Given the description of an element on the screen output the (x, y) to click on. 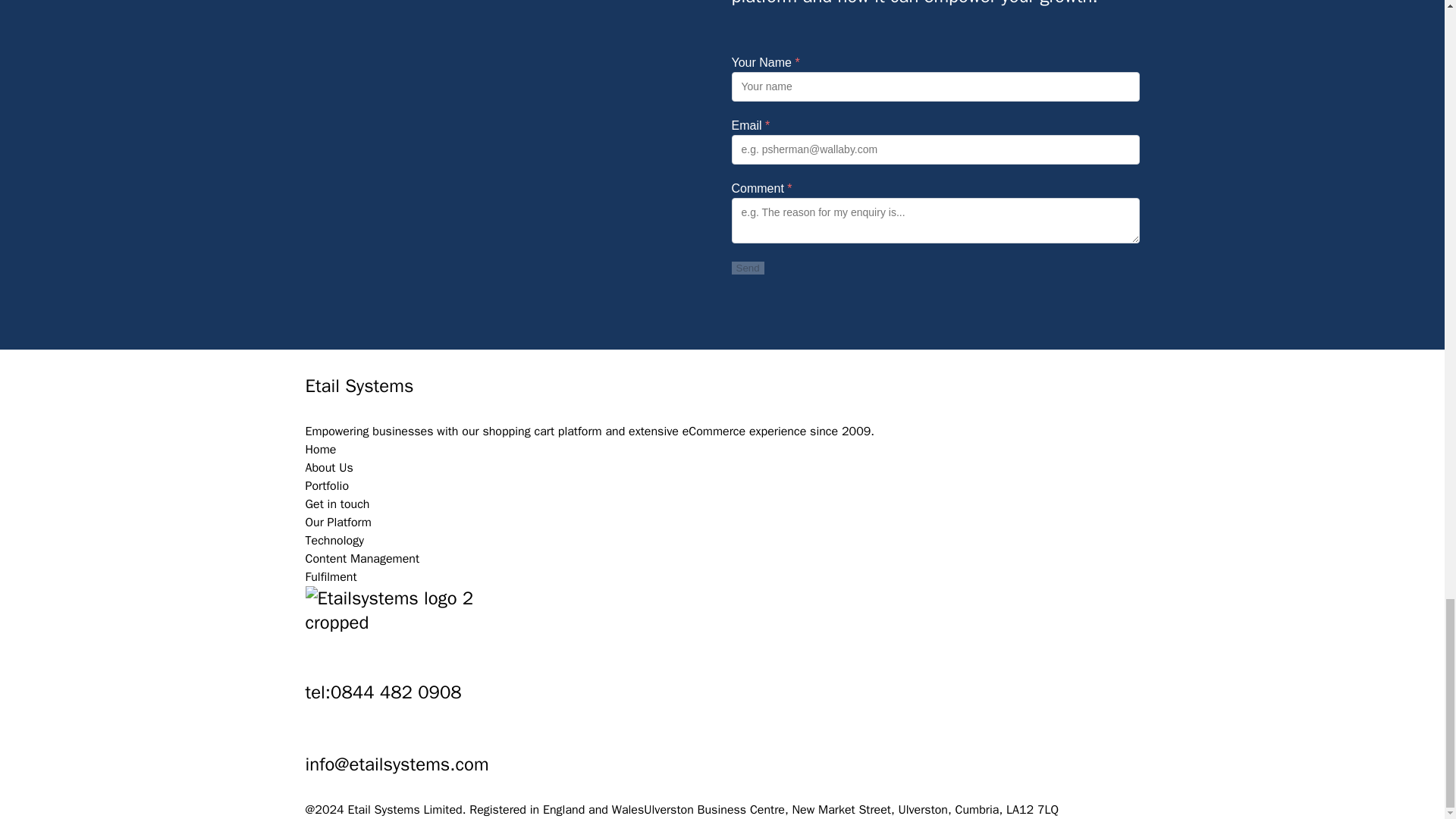
Our Platform (721, 522)
Home (721, 449)
Send (746, 267)
Fulfilment (721, 577)
Content Management (721, 558)
About Us (721, 467)
Technology (721, 540)
Get in touch (721, 504)
Portfolio (721, 485)
